Given the description of an element on the screen output the (x, y) to click on. 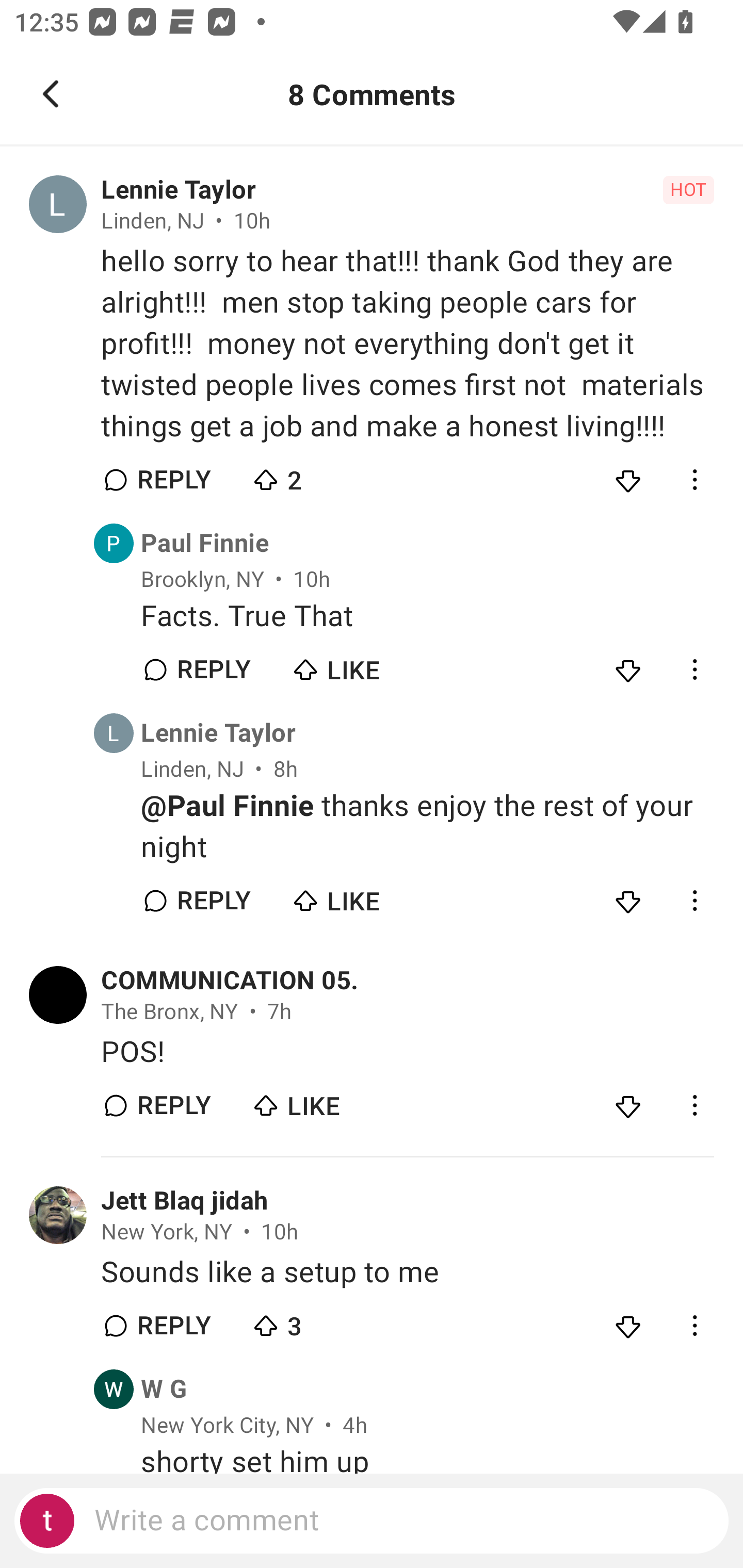
Navigate up (50, 93)
Lennie Taylor (178, 190)
2 (320, 475)
REPLY (173, 480)
Paul Finnie (204, 543)
Facts. True That  (427, 615)
LIKE (360, 665)
REPLY (213, 670)
Lennie Taylor (218, 732)
@Paul Finnie thanks enjoy the rest of your night  (427, 825)
LIKE (360, 895)
REPLY (213, 900)
COMMUNICATION 05. (229, 980)
POS! (407, 1051)
LIKE (320, 1101)
REPLY (173, 1106)
Jett Blaq jidah (184, 1200)
Sounds like a setup to me (407, 1271)
3 (320, 1320)
REPLY (173, 1325)
W G (164, 1389)
shorty set him up (427, 1459)
Write a comment (371, 1520)
